Given the description of an element on the screen output the (x, y) to click on. 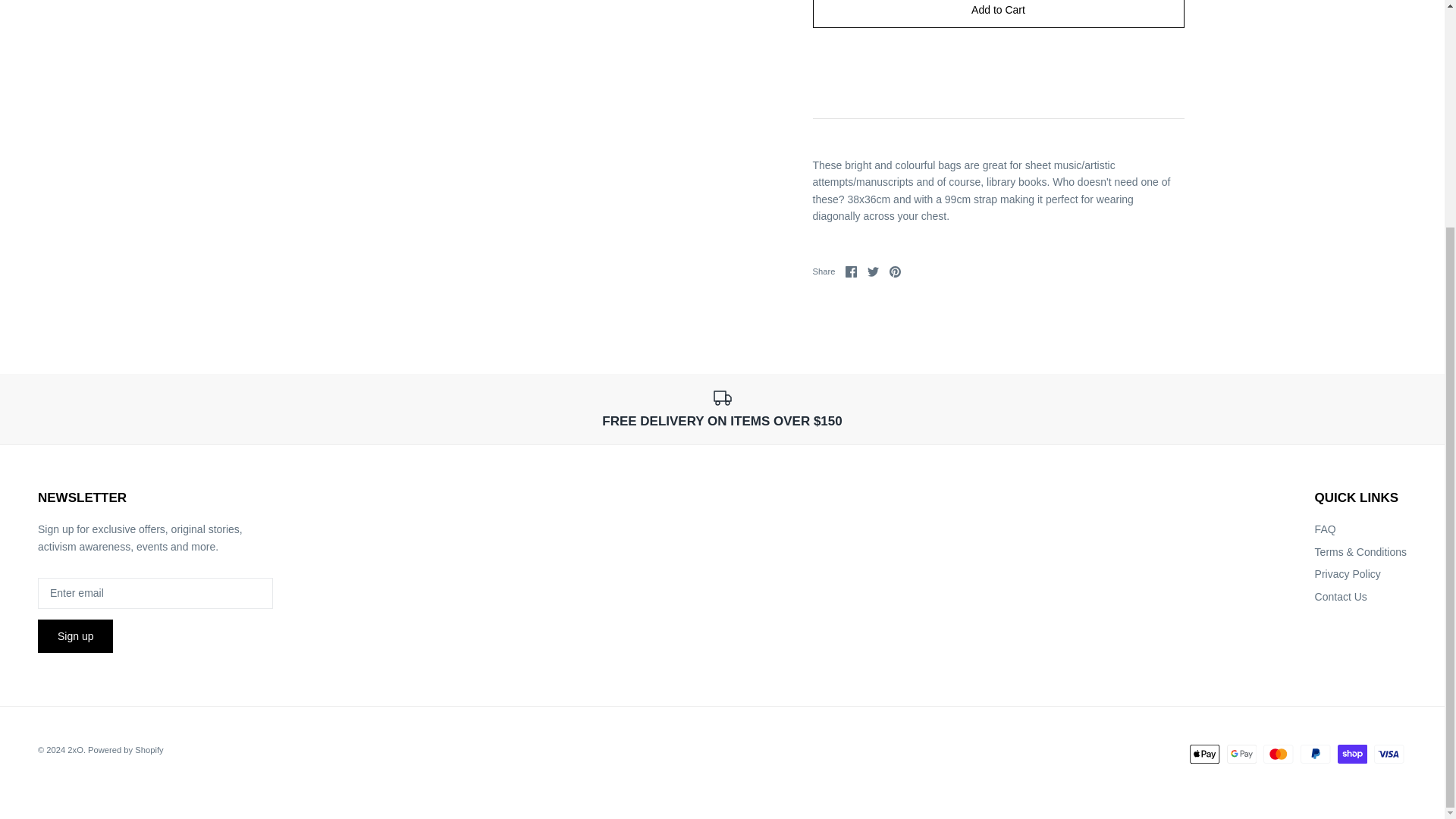
Shop Pay (1352, 753)
2xO (873, 271)
PayPal (74, 749)
Add to Cart (1315, 753)
Twitter (998, 13)
Privacy Policy (873, 271)
Apple Pay (1347, 573)
Google Pay (1204, 753)
Mastercard (1241, 753)
Pinterest (1277, 753)
Visa (895, 271)
Powered by Shopify (1388, 753)
Add to Cart (125, 749)
Facebook (998, 13)
